Given the description of an element on the screen output the (x, y) to click on. 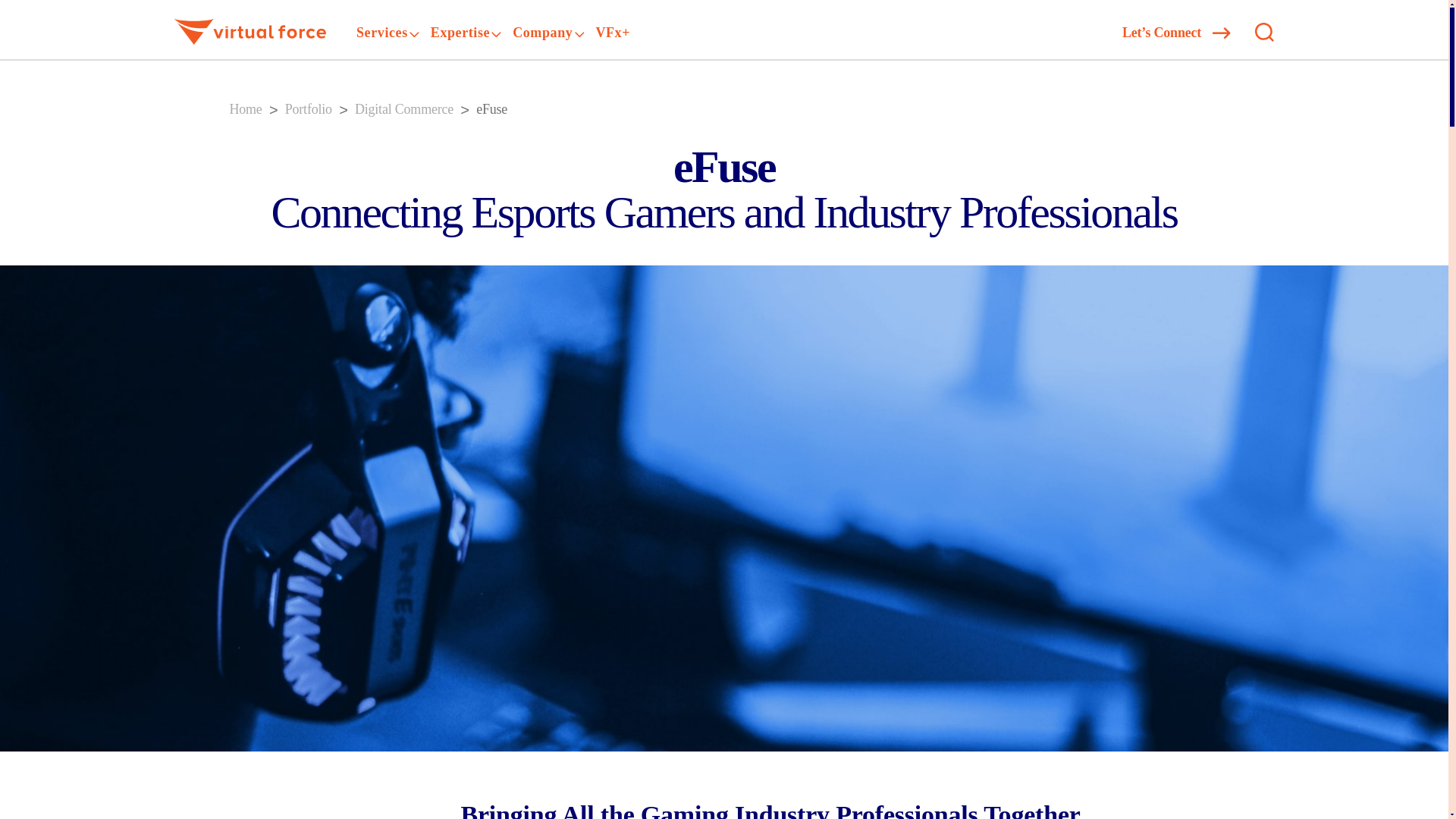
Expertise (459, 32)
Company (541, 32)
Services (382, 32)
